Given the description of an element on the screen output the (x, y) to click on. 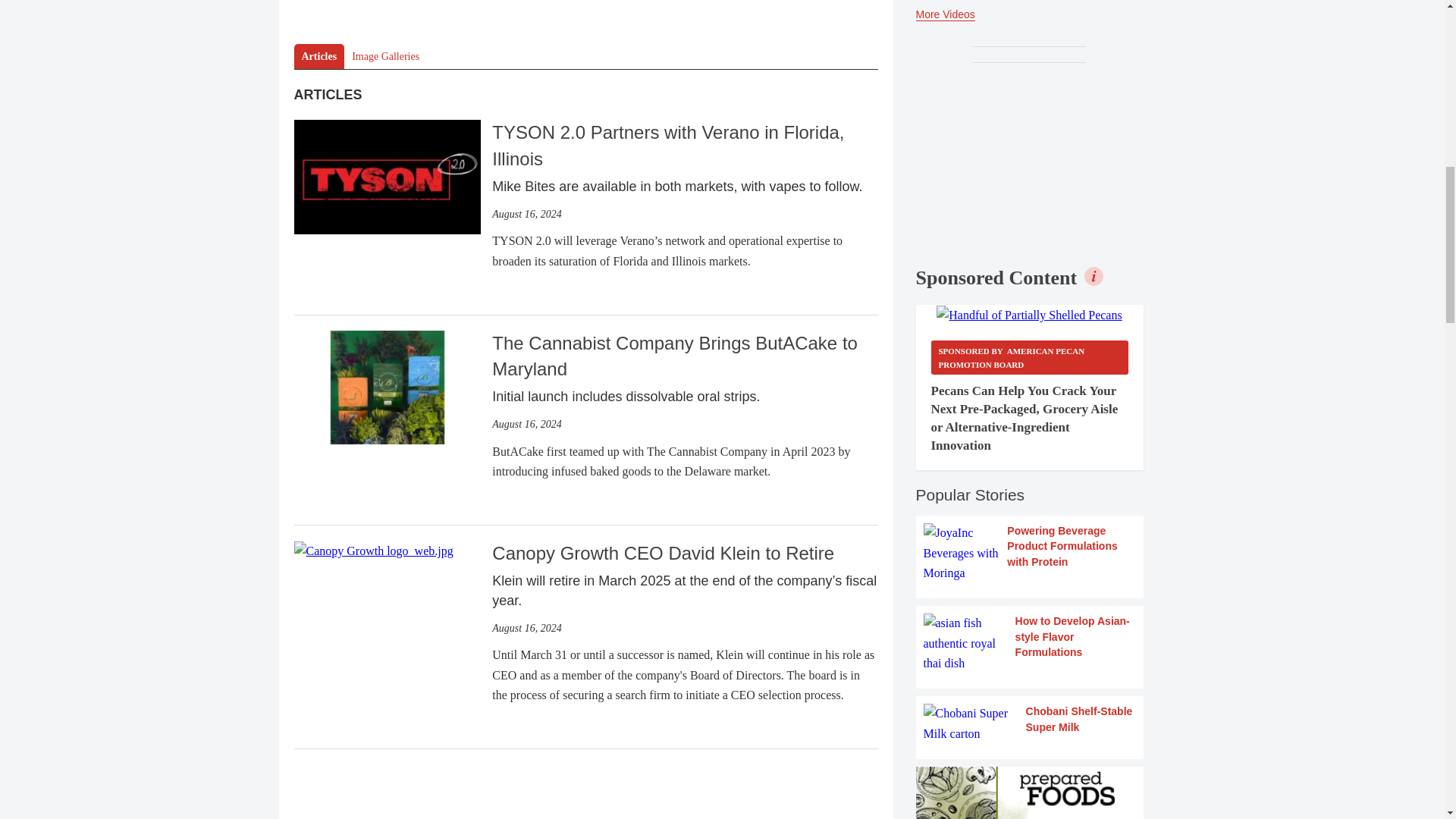
Interaction questions (585, 3)
The Cannabist Company Brings ButACake to Maryland (387, 386)
ButACake oral strips (387, 387)
Canopy Growth CEO David Klein to Retire (373, 549)
Tyson 2.0 logo (387, 176)
TYSON 2.0 Partners with Verano in Florida, Illinois (387, 174)
